Given the description of an element on the screen output the (x, y) to click on. 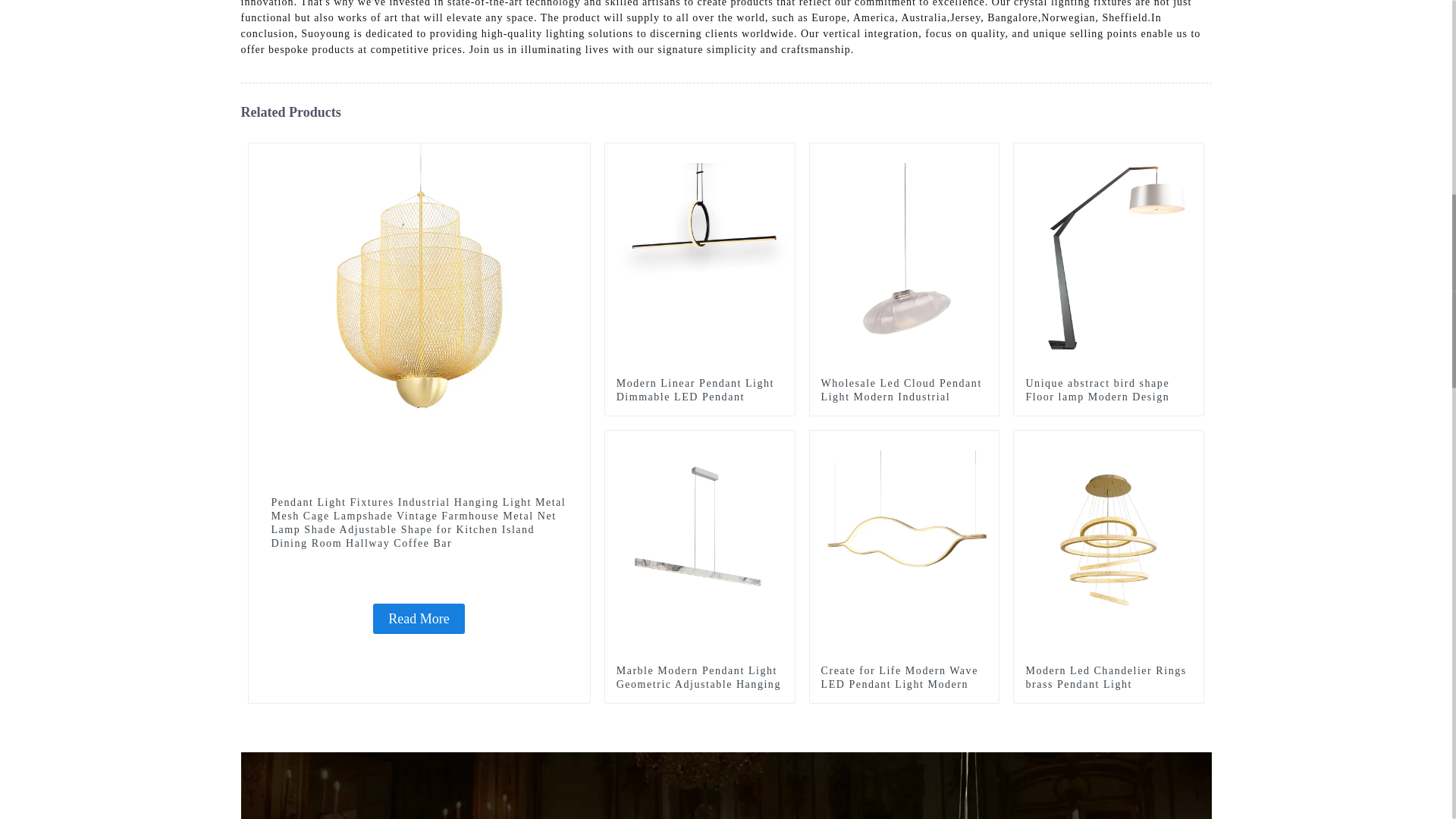
Wholesale Led Cloud Pendant Light (986, 154)
Marble Modern Pendant Light (782, 441)
Read More (418, 618)
Unique abstract bird shape Floor lamp (1192, 154)
Modern Linear Pendant Light (782, 154)
